Given the description of an element on the screen output the (x, y) to click on. 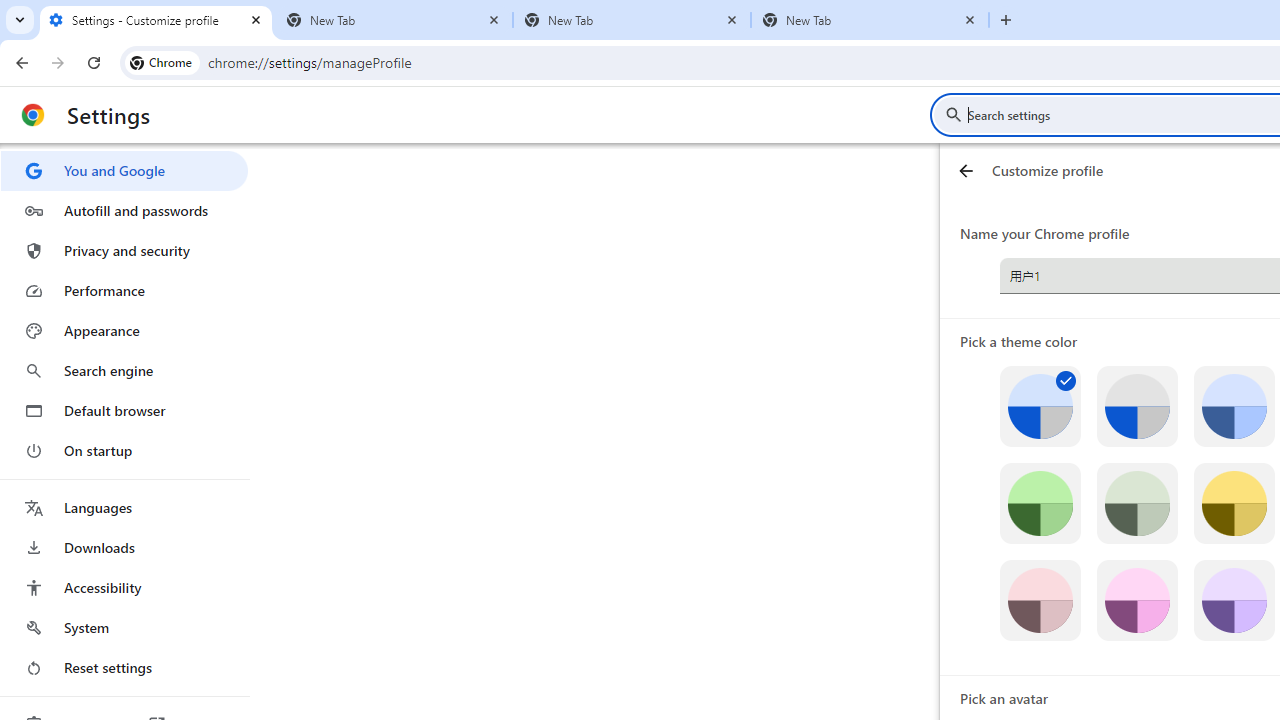
Settings - Customize profile (156, 20)
Reset settings (124, 668)
Autofill and passwords (124, 210)
New Tab (870, 20)
Appearance (124, 331)
New Tab (394, 20)
You and Google (124, 170)
Downloads (124, 547)
